Given the description of an element on the screen output the (x, y) to click on. 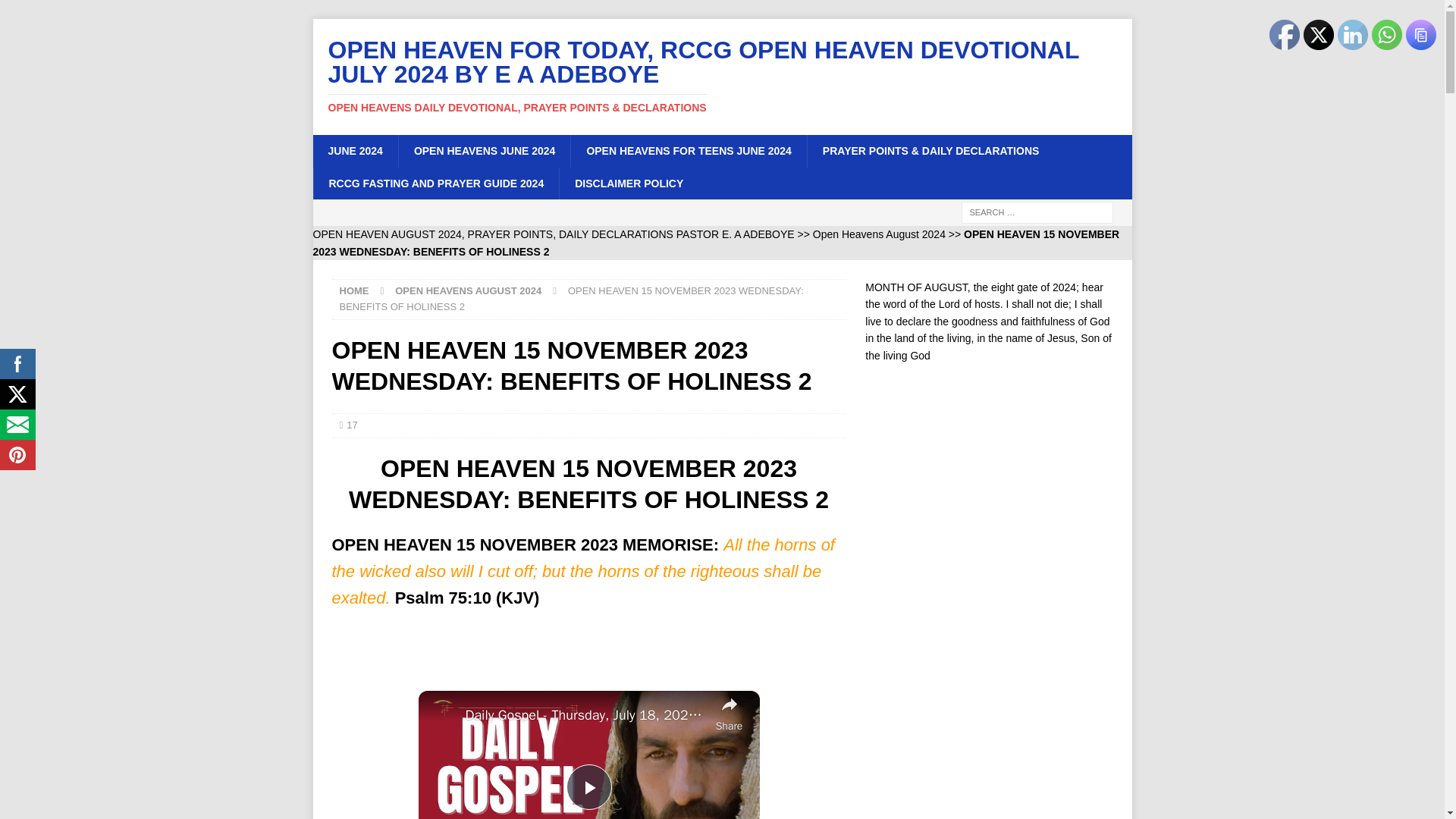
17 (351, 424)
LinkedIn (1353, 34)
Play Video (588, 786)
OPEN HEAVENS JUNE 2024 (483, 151)
HOME (354, 290)
Play Video (588, 786)
Open Heavens August 2024 (878, 234)
Search (56, 11)
JUNE 2024 (355, 151)
RCCG FASTING AND PRAYER GUIDE 2024 (436, 183)
OPEN HEAVENS FOR TEENS JUNE 2024 (688, 151)
Facebook (1284, 34)
OPEN HEAVENS AUGUST 2024 (467, 290)
